Given the description of an element on the screen output the (x, y) to click on. 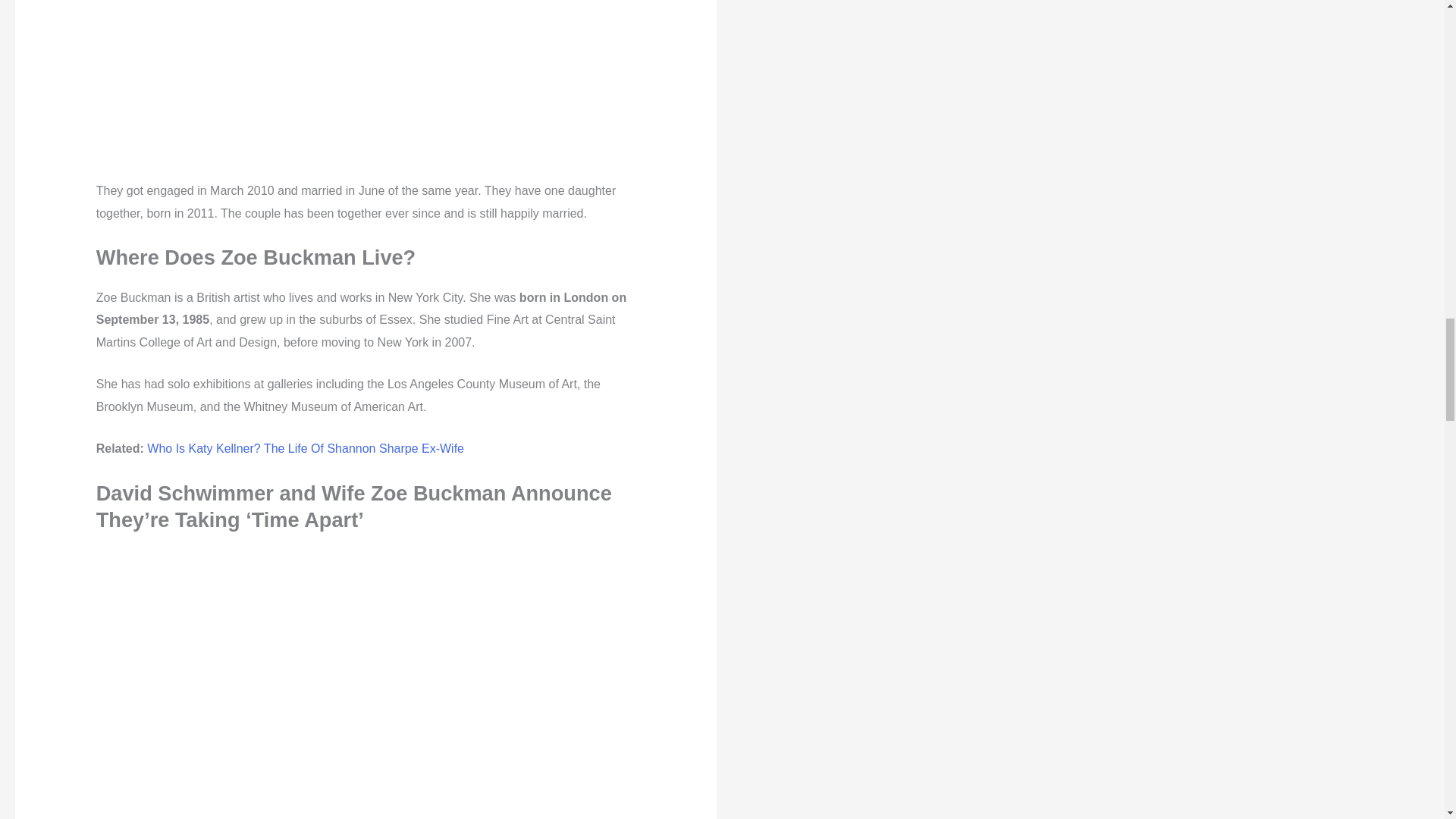
Who Is Katy Kellner? The Life Of Shannon Sharpe Ex-Wife (305, 448)
